Given the description of an element on the screen output the (x, y) to click on. 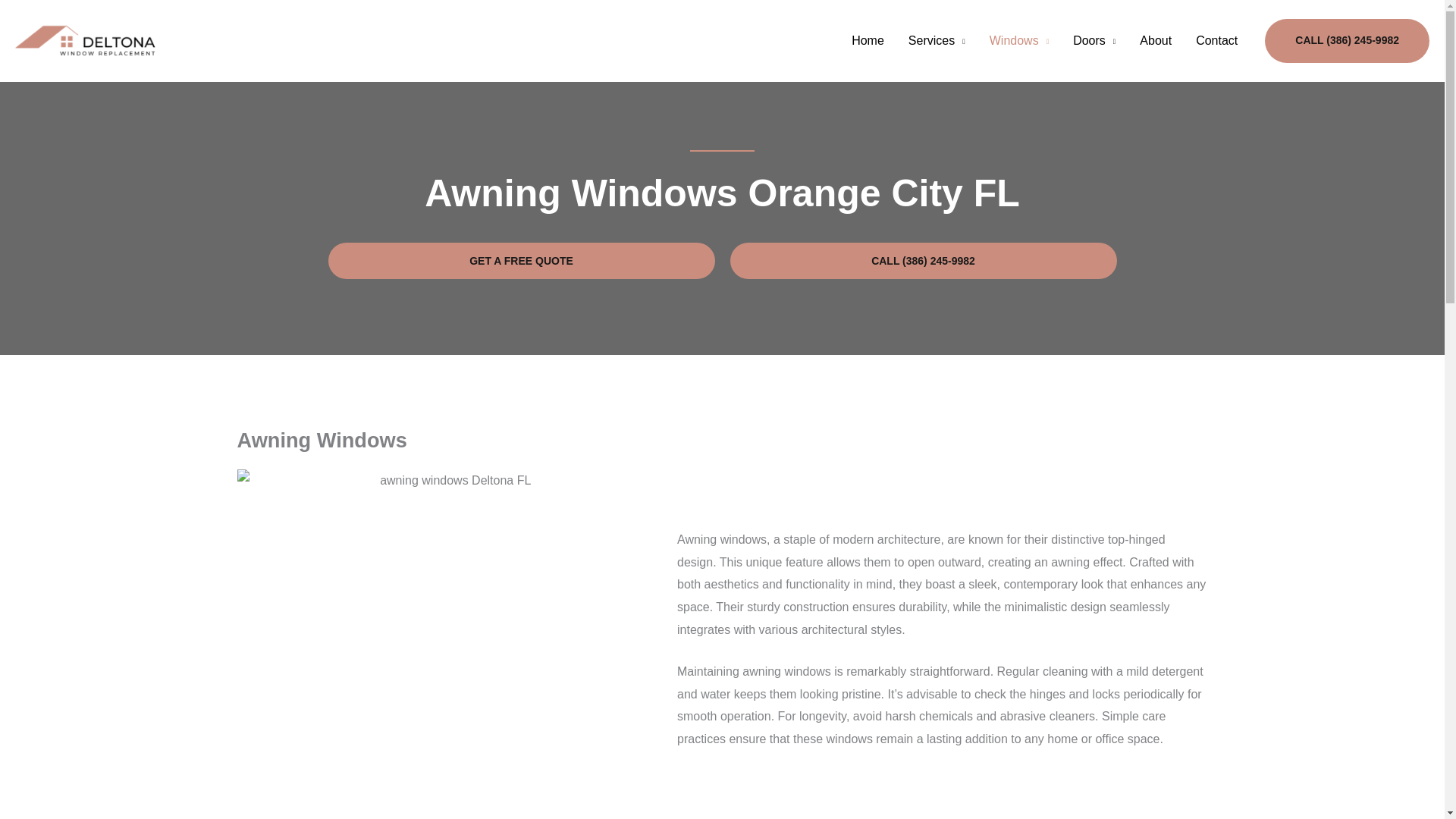
Doors (1093, 40)
Contact (1216, 40)
Home (868, 40)
Services (936, 40)
About (1154, 40)
Windows (1018, 40)
